Given the description of an element on the screen output the (x, y) to click on. 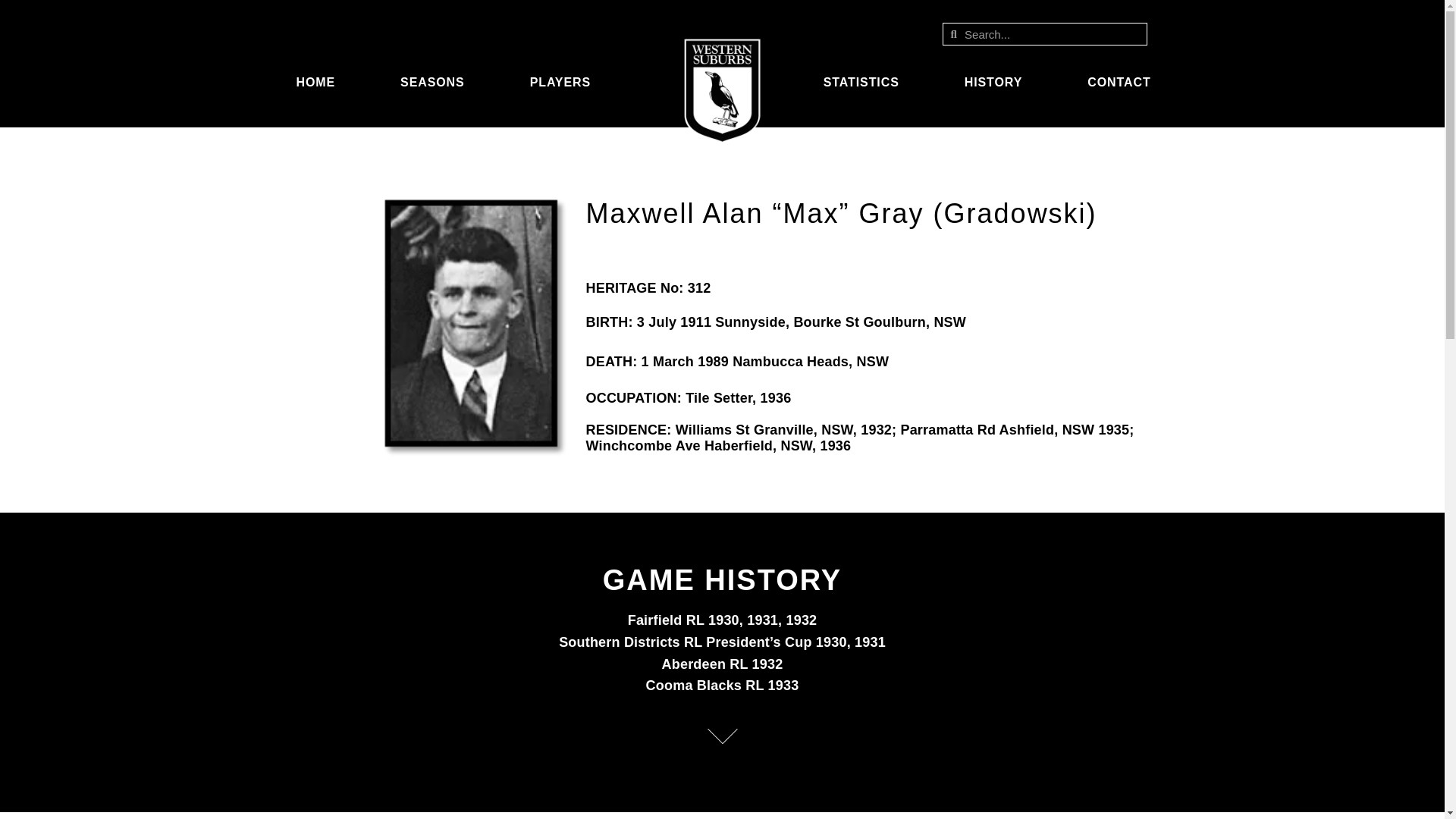
HOME (318, 82)
SEASONS (435, 82)
STATISTICS (865, 82)
CONTACT (1122, 82)
PLAYERS (563, 82)
HISTORY (997, 82)
